Given the description of an element on the screen output the (x, y) to click on. 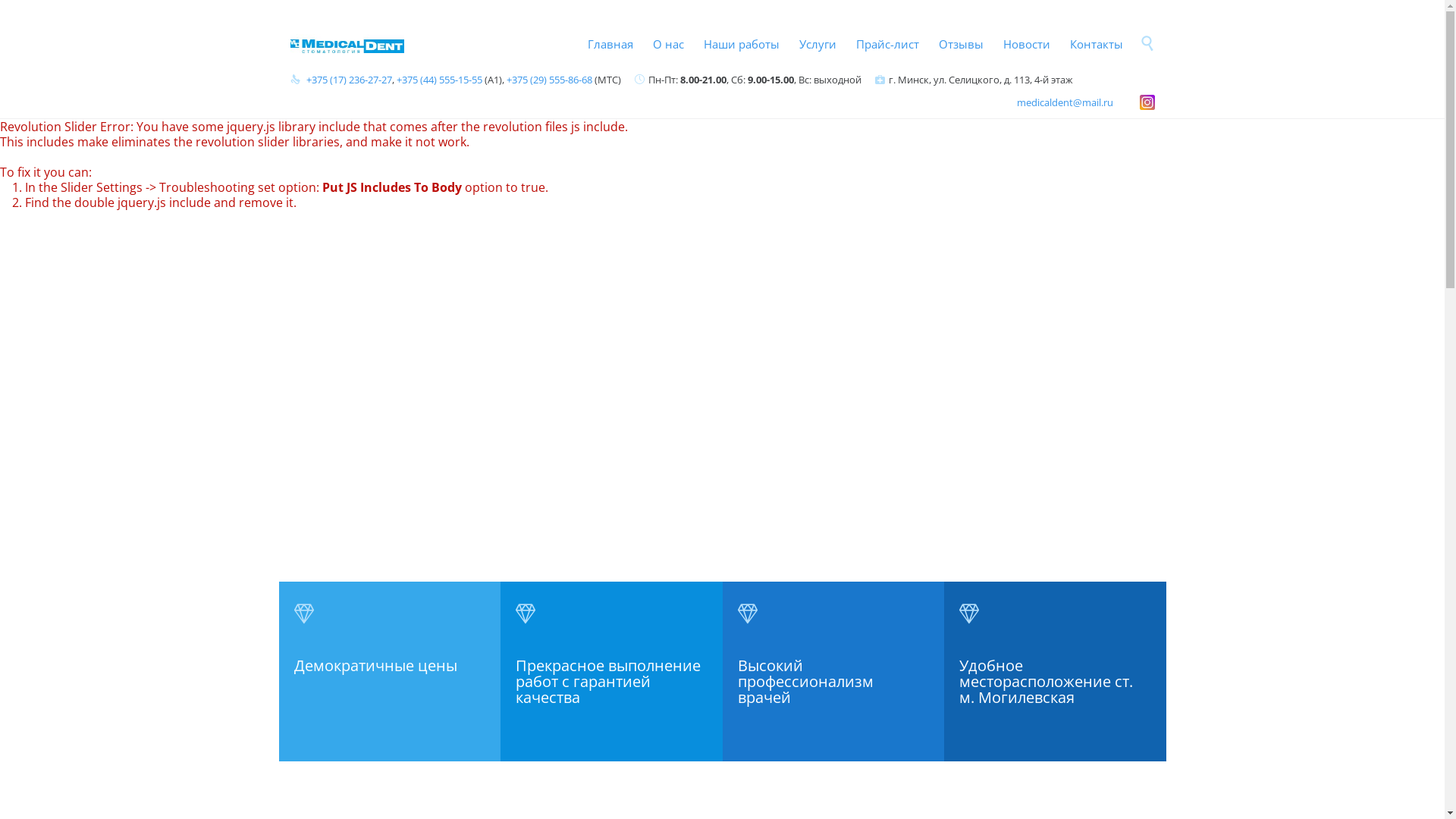
+375 (29) 555-86-68 Element type: text (547, 79)
Skip to content Element type: text (1134, 27)
+375 (44) 555-15-55 Element type: text (438, 79)
medicaldent.by Element type: hover (346, 43)
+375 (17) 236-27-27 Element type: text (349, 79)
medicaldent@mail.ru Element type: text (1064, 102)
